Given the description of an element on the screen output the (x, y) to click on. 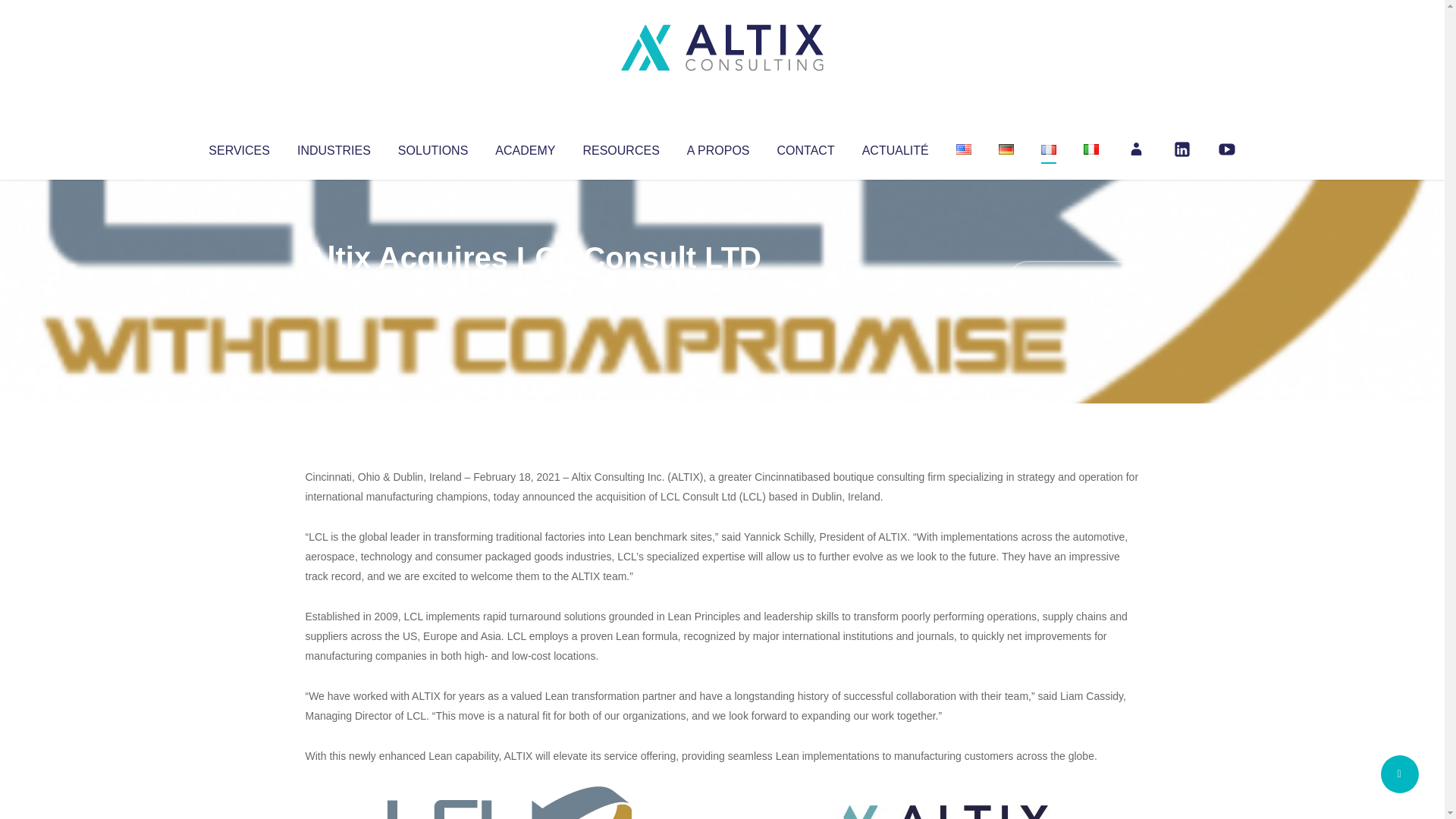
SERVICES (238, 146)
Articles par Altix (333, 287)
INDUSTRIES (334, 146)
A PROPOS (718, 146)
Uncategorized (530, 287)
No Comments (1073, 278)
ACADEMY (524, 146)
Altix (333, 287)
RESOURCES (620, 146)
SOLUTIONS (432, 146)
